Given the description of an element on the screen output the (x, y) to click on. 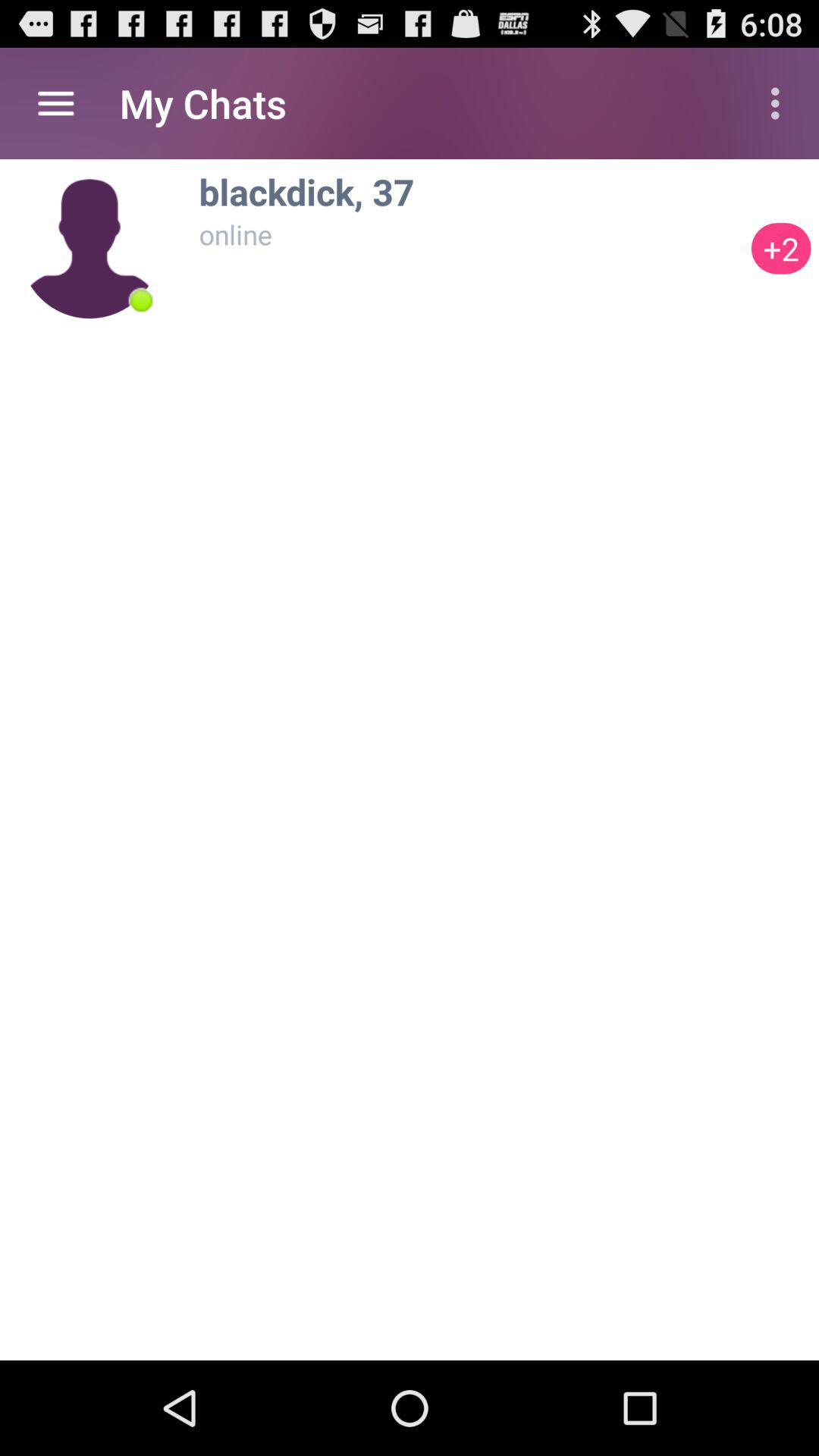
turn off the item next to the blackdick, 37 (781, 248)
